Given the description of an element on the screen output the (x, y) to click on. 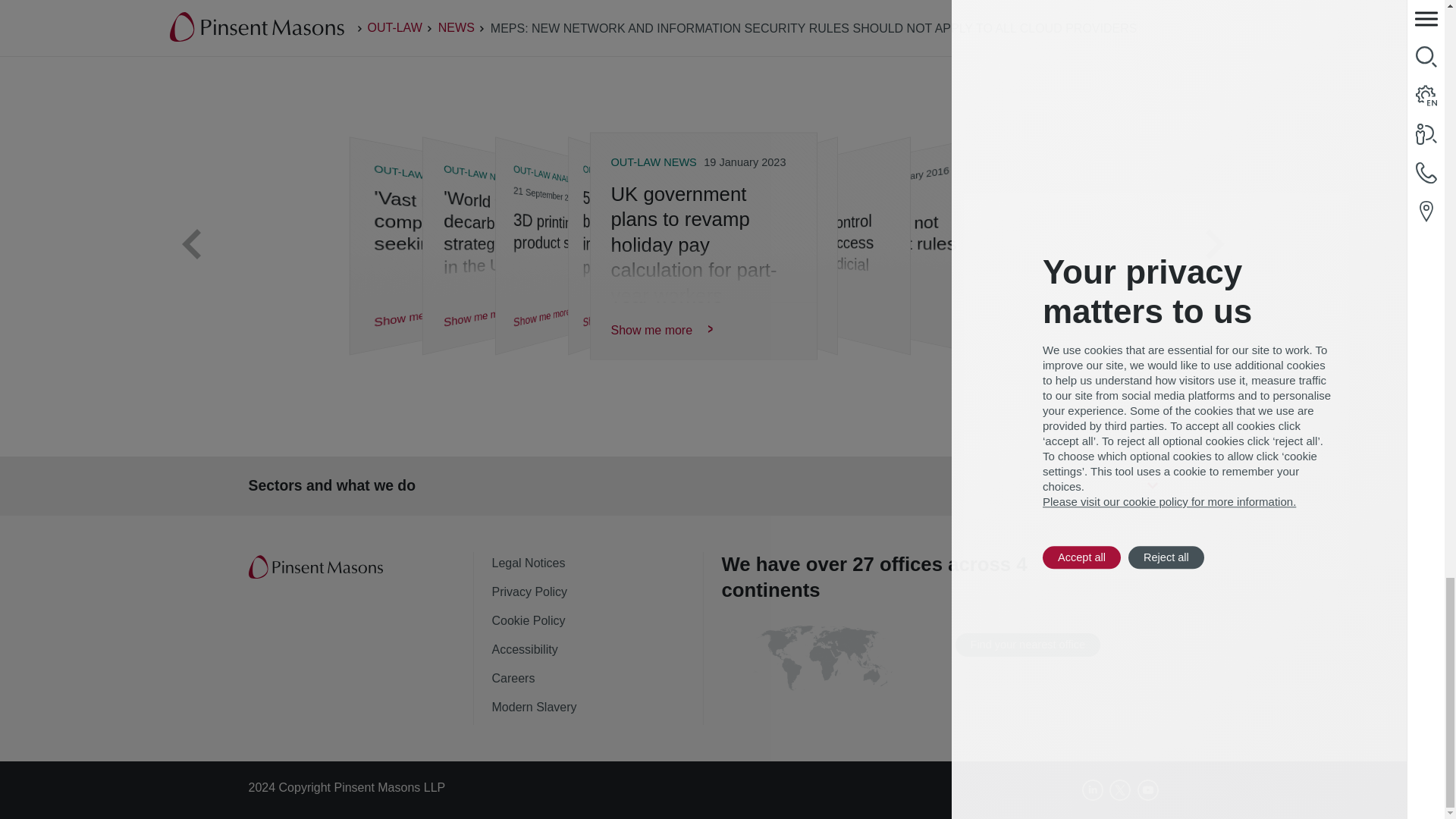
Pinsent Masons LinkedIn (1092, 789)
Pinsent Masons (316, 567)
Pinsent Masons Twitter (1120, 789)
